Given the description of an element on the screen output the (x, y) to click on. 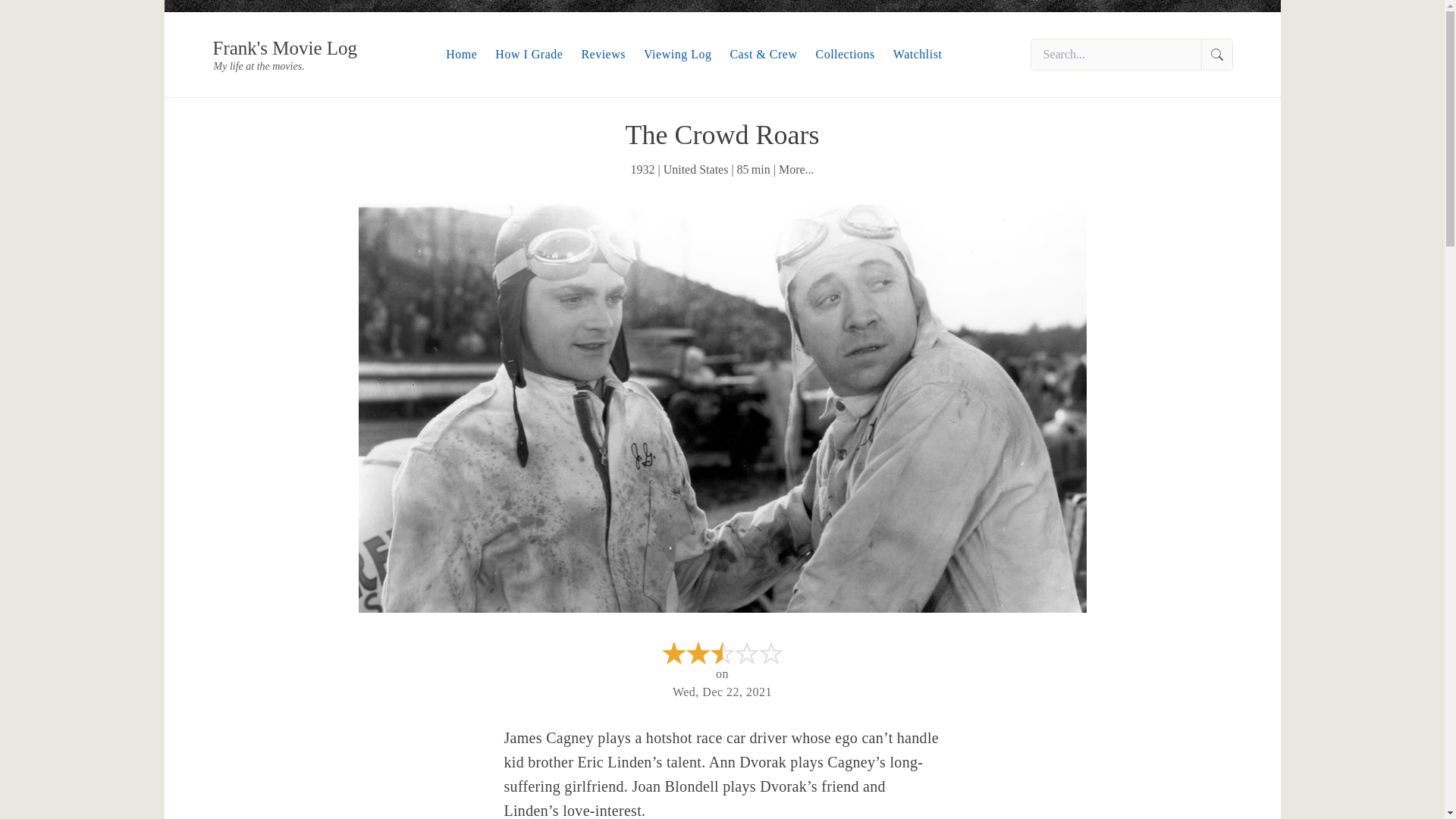
Reviews (603, 53)
Watchlist (917, 53)
How I Grade (528, 53)
Viewing Log (677, 53)
More... (795, 169)
Search (1216, 54)
Collections (845, 53)
Frank's Movie Log (284, 47)
Home (461, 53)
